Given the description of an element on the screen output the (x, y) to click on. 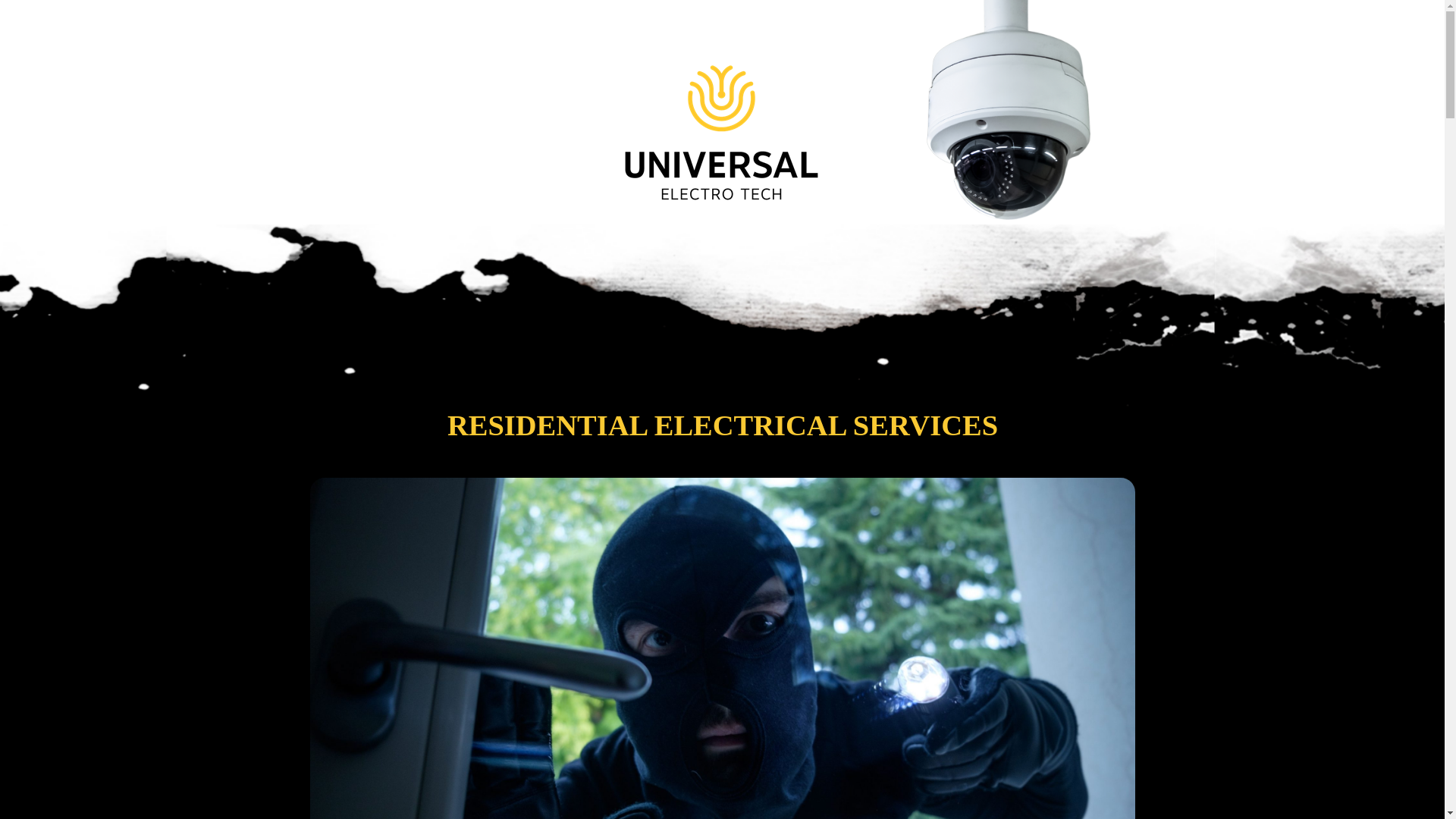
Camera Wiredtohelp Element type: hover (1015, 111)
logo Element type: hover (722, 100)
